Given the description of an element on the screen output the (x, y) to click on. 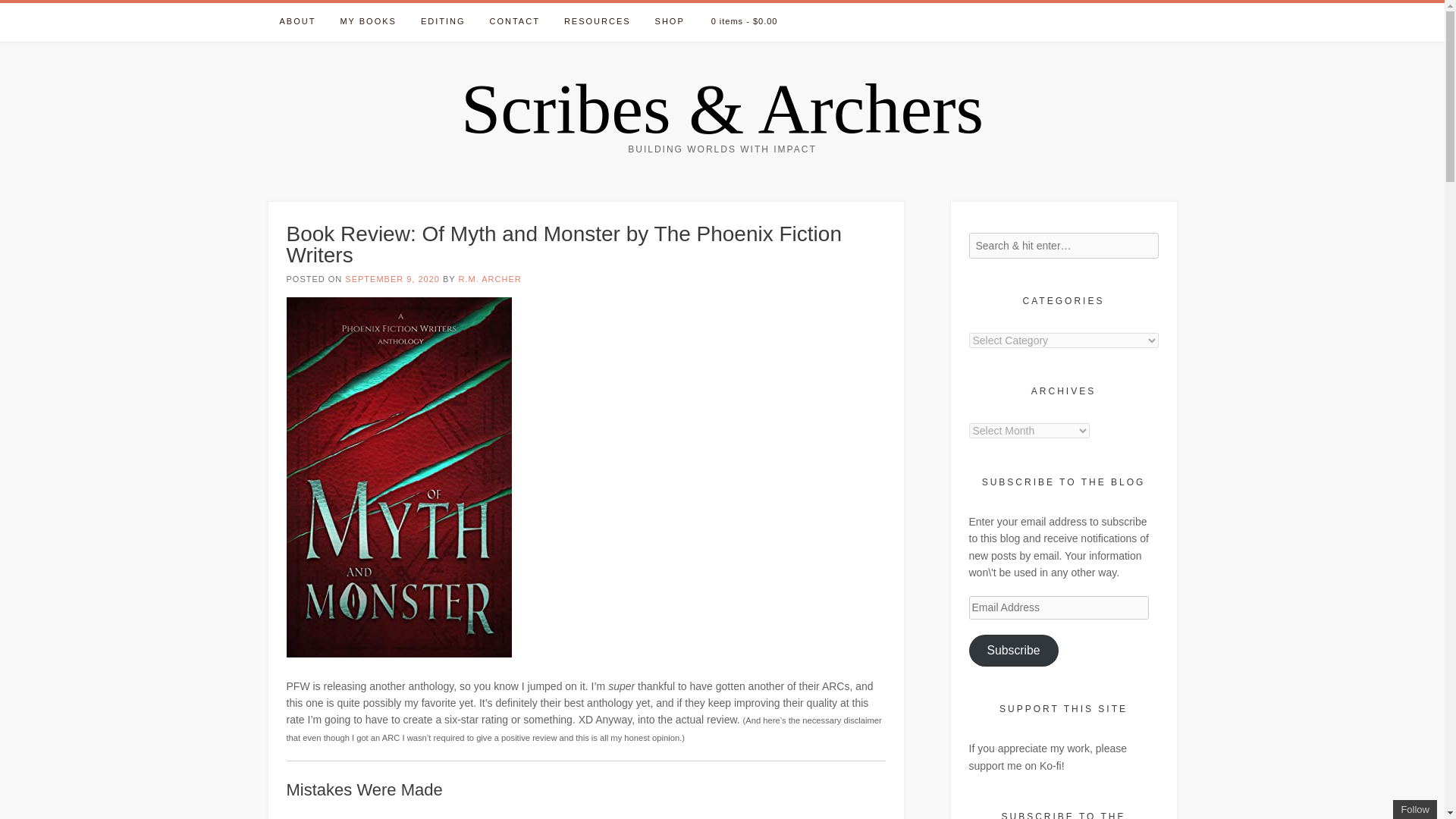
EDITING (443, 22)
RESOURCES (597, 22)
SHOP (670, 22)
Find Us on Pinterest (1171, 14)
View your shopping cart (746, 22)
ABOUT (296, 22)
Send Us an Email (1137, 14)
SEPTEMBER 9, 2020 (392, 278)
MY BOOKS (367, 22)
Find Us on Facebook (1148, 14)
R.M. ARCHER (489, 278)
CONTACT (514, 22)
Follow Us on Twitter (1161, 14)
